Given the description of an element on the screen output the (x, y) to click on. 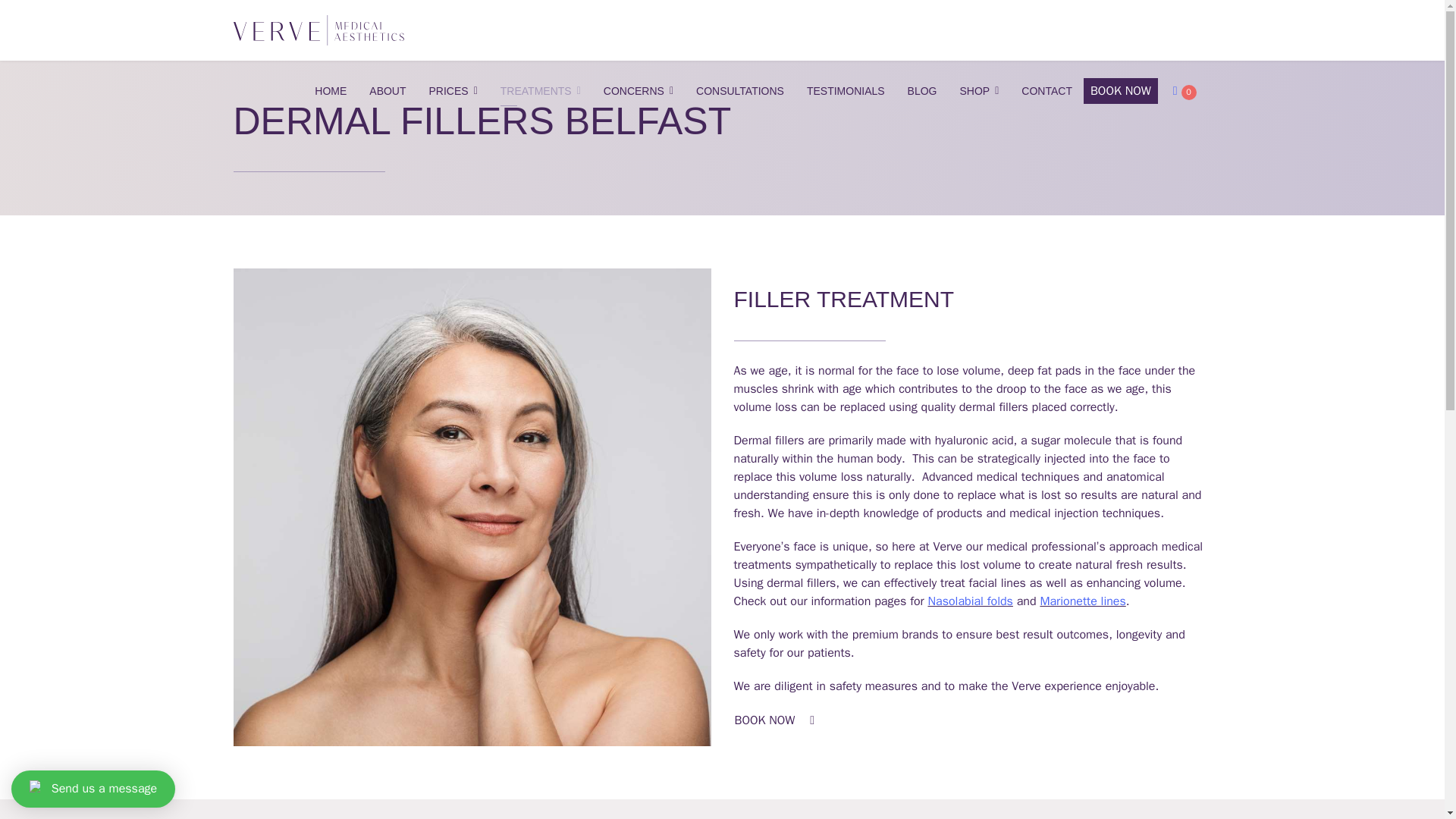
HOME (330, 90)
TREATMENTS (540, 90)
CONCERNS (638, 90)
PRICES (453, 90)
ABOUT (387, 90)
